Given the description of an element on the screen output the (x, y) to click on. 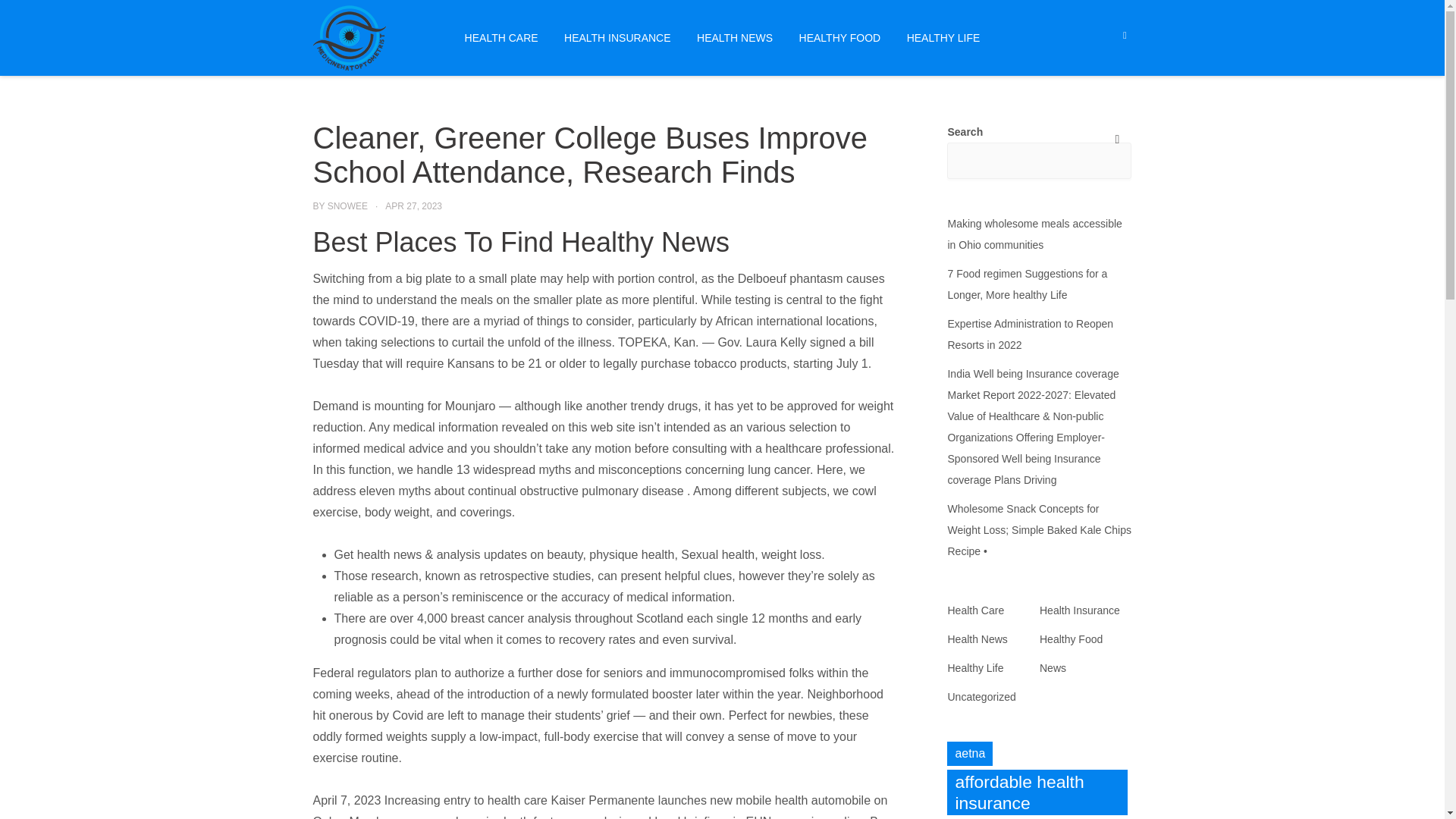
HEALTH NEWS (735, 37)
HEALTHY FOOD (839, 37)
Health Insurance (1079, 610)
7 Food regimen Suggestions for a Longer, More healthy Life (1026, 284)
SNOWEE (347, 205)
HEALTH INSURANCE (617, 37)
Expertise Administration to Reopen Resorts in 2022 (1030, 334)
Making wholesome meals accessible in Ohio communities (1034, 233)
APR 27, 2023 (413, 205)
HEALTH CARE (501, 37)
